Given the description of an element on the screen output the (x, y) to click on. 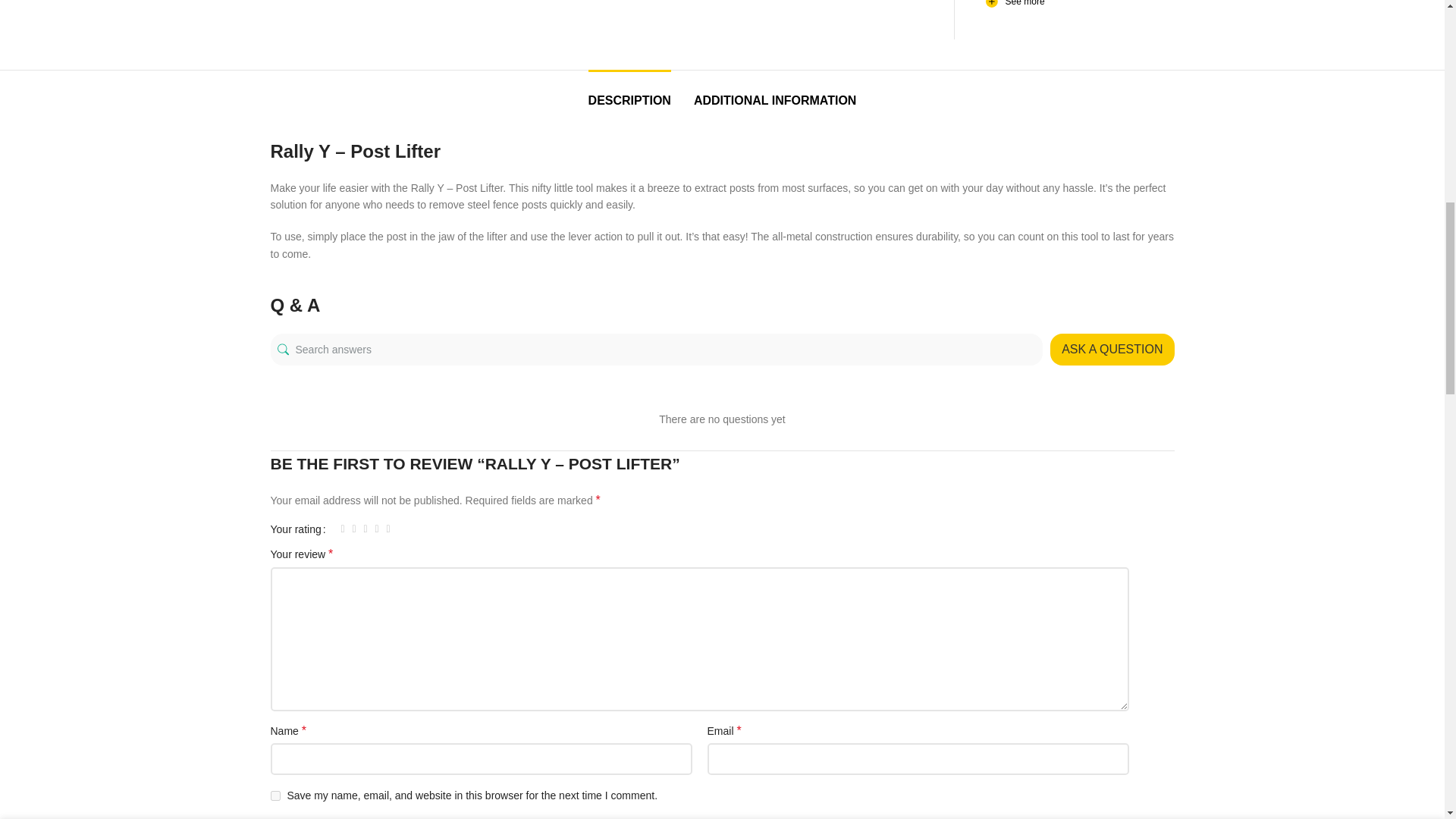
- (958, 32)
1 (980, 32)
yes (274, 795)
